Given the description of an element on the screen output the (x, y) to click on. 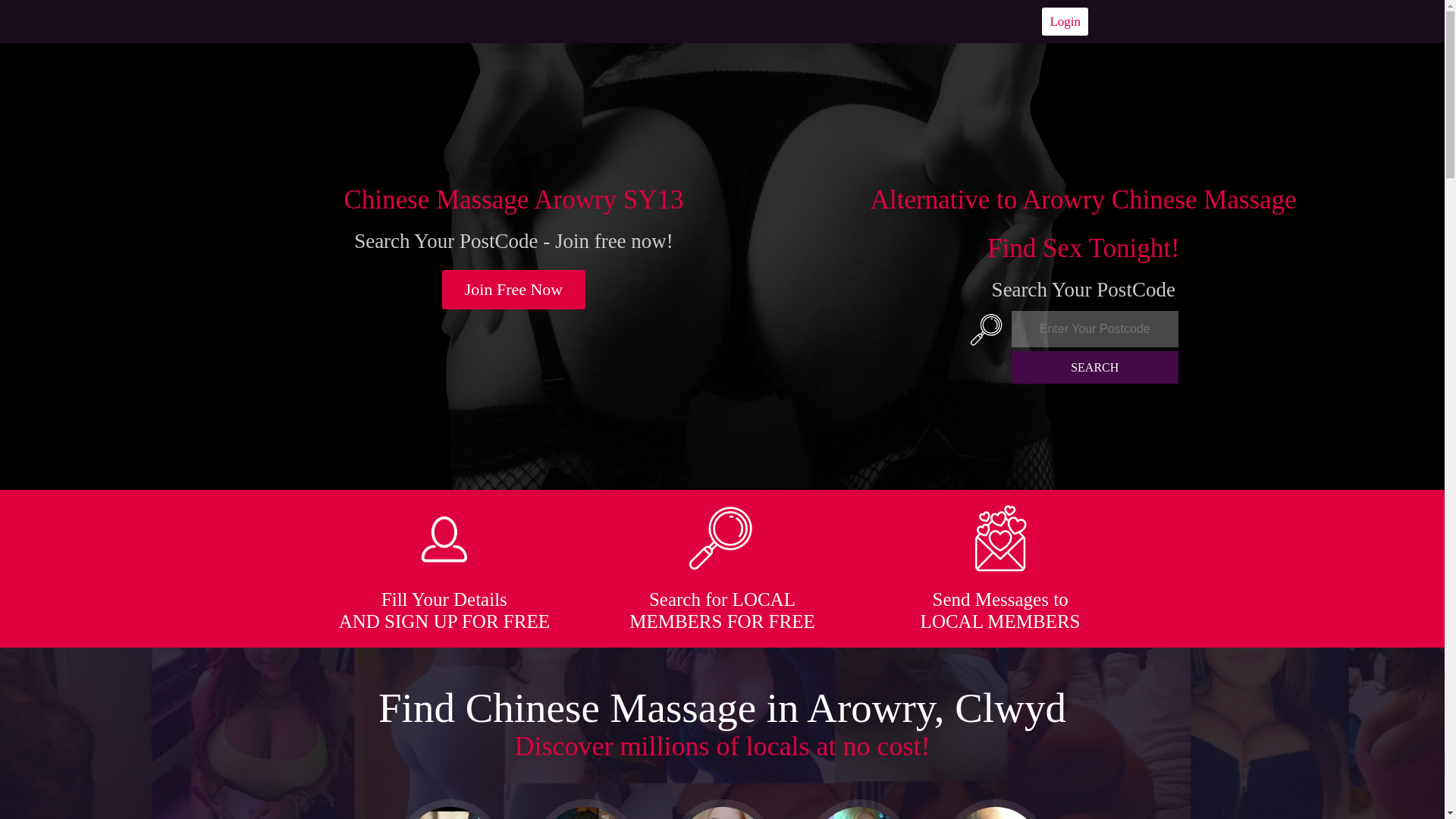
SEARCH (1094, 367)
Login (1064, 21)
Join (514, 289)
Login (1064, 21)
Join Free Now (514, 289)
